Given the description of an element on the screen output the (x, y) to click on. 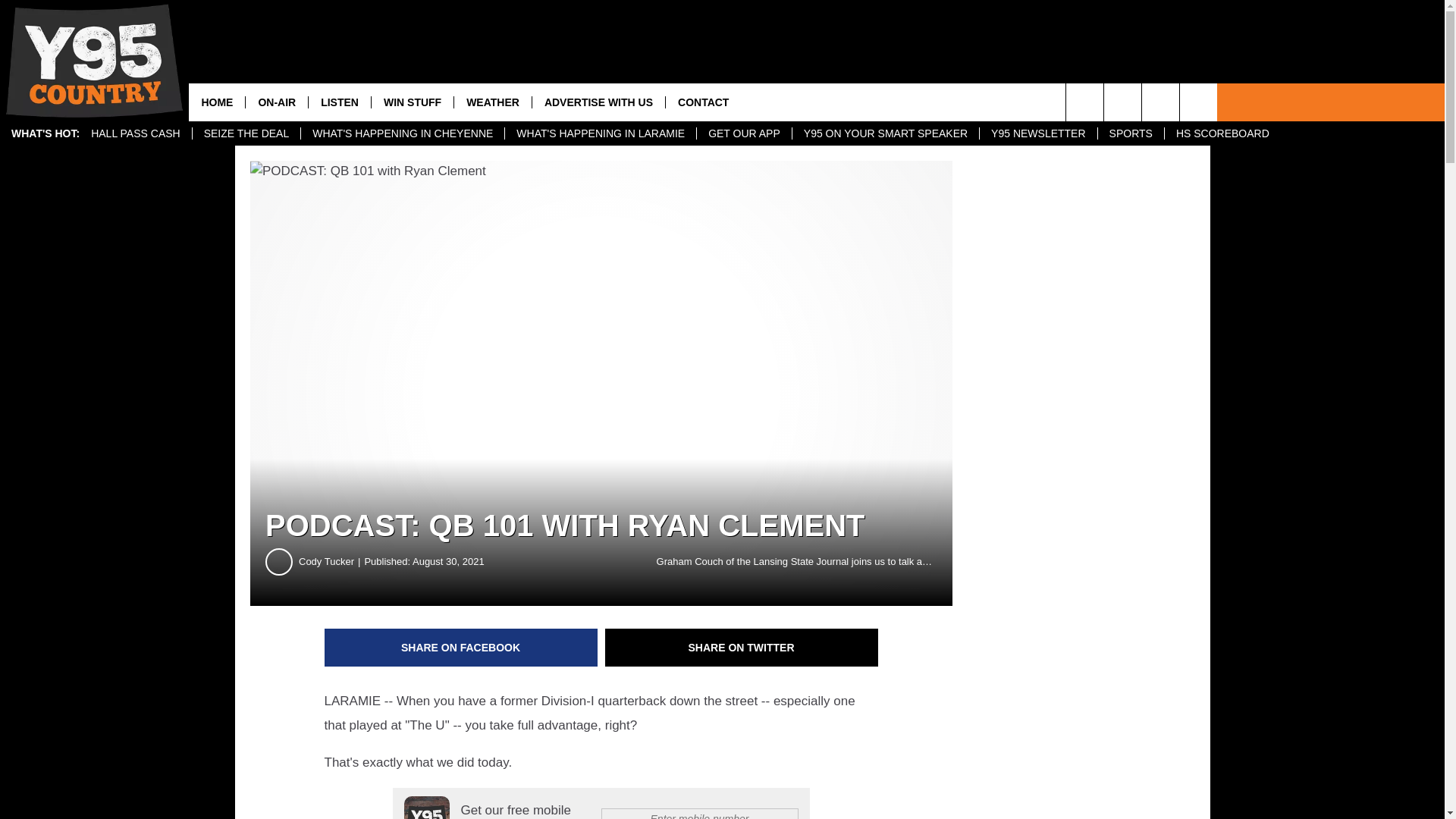
Share on Twitter (741, 647)
ON-AIR (275, 102)
ADVERTISE WITH US (598, 102)
HALL PASS CASH (136, 133)
SPORTS (1130, 133)
WHAT'S HAPPENING IN CHEYENNE (401, 133)
Y95 ON YOUR SMART SPEAKER (885, 133)
Share on Facebook (460, 647)
SEIZE THE DEAL (246, 133)
HOME (216, 102)
LISTEN (339, 102)
WHAT'S HAPPENING IN LARAMIE (599, 133)
CONTACT (703, 102)
HS SCOREBOARD (1222, 133)
WEATHER (491, 102)
